Given the description of an element on the screen output the (x, y) to click on. 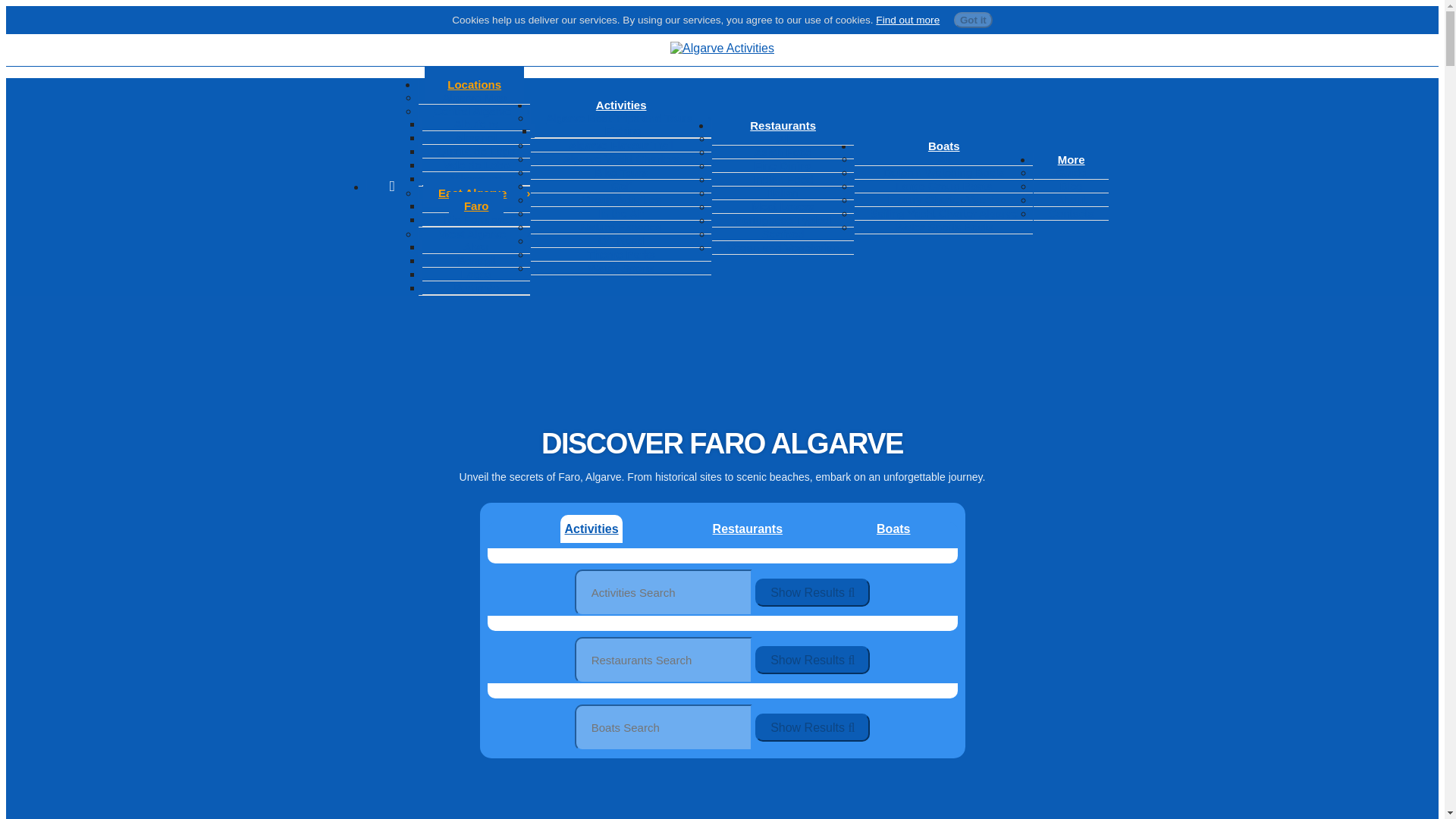
Almancil (476, 137)
Theme Parks (620, 254)
Nature Escapes (621, 226)
Off Road (621, 240)
Vale do Lobo (476, 164)
Bike Tours (620, 172)
Algarve Flavour Trail (620, 144)
Restaurants (782, 125)
Water Sports (621, 267)
Golf (620, 185)
